Given the description of an element on the screen output the (x, y) to click on. 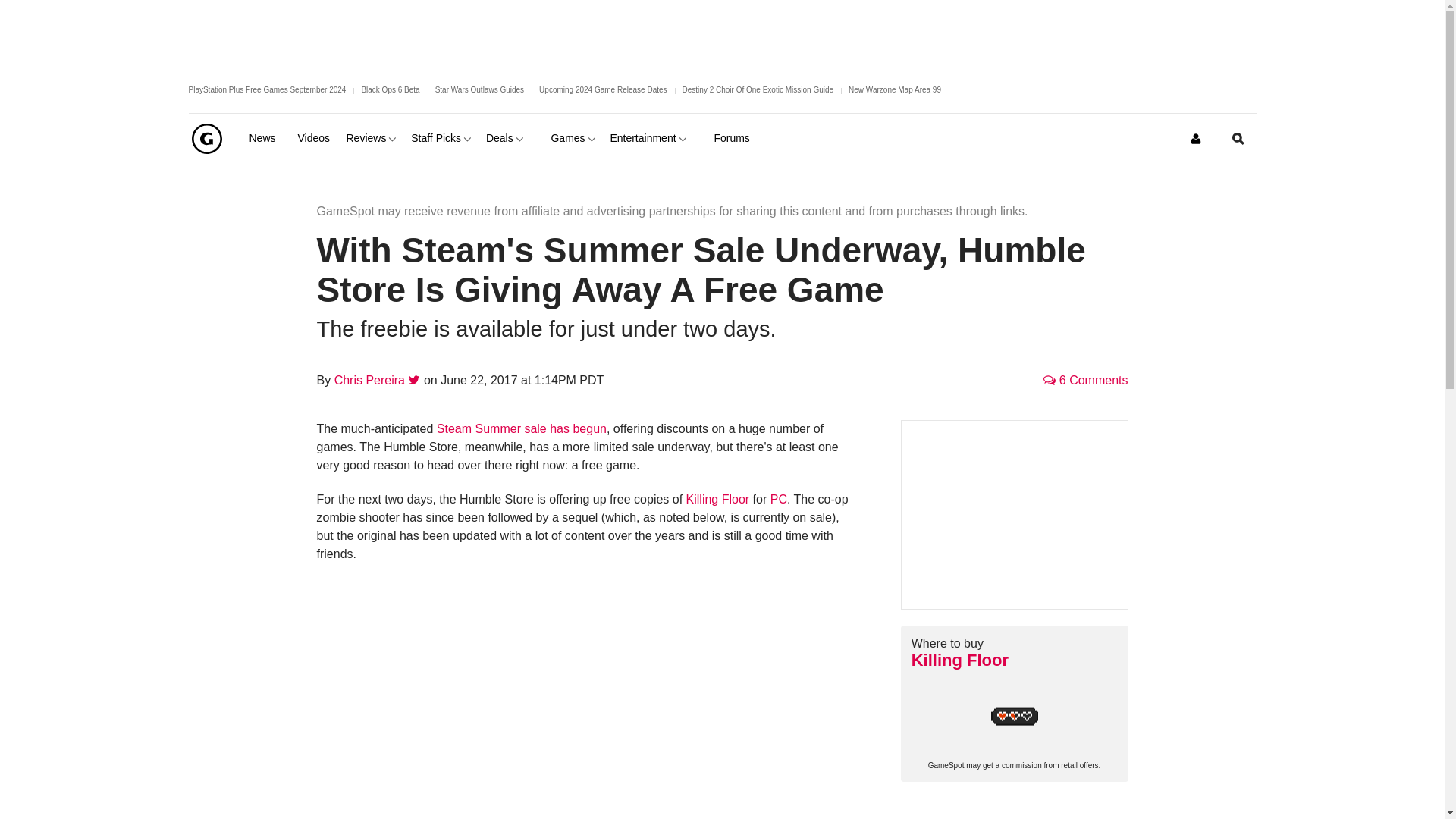
Deals (505, 138)
Black Ops 6 Beta (390, 89)
Destiny 2 Choir Of One Exotic Mission Guide (758, 89)
Staff Picks (442, 138)
Games (573, 138)
PlayStation Plus Free Games September 2024 (266, 89)
New Warzone Map Area 99 (894, 89)
Videos (315, 138)
Upcoming 2024 Game Release Dates (602, 89)
